Given the description of an element on the screen output the (x, y) to click on. 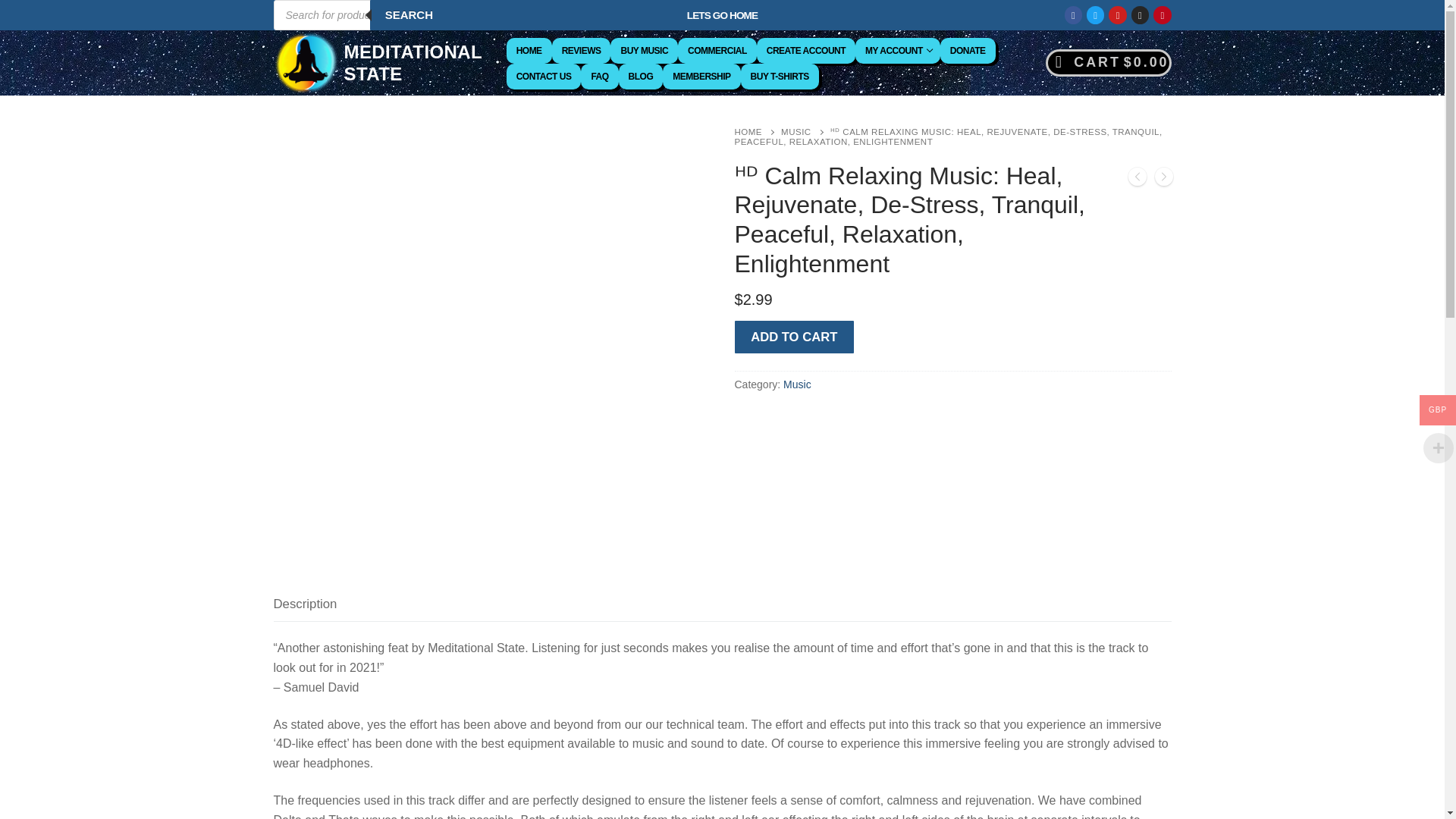
COMMERCIAL (717, 50)
CONTACT US (543, 76)
REVIEWS (581, 50)
FAQ (598, 76)
Twitter (1095, 15)
CREATE ACCOUNT (806, 50)
MEMBERSHIP (700, 76)
Youtube (1117, 15)
BUY MUSIC (644, 50)
Facebook (1073, 15)
